Given the description of an element on the screen output the (x, y) to click on. 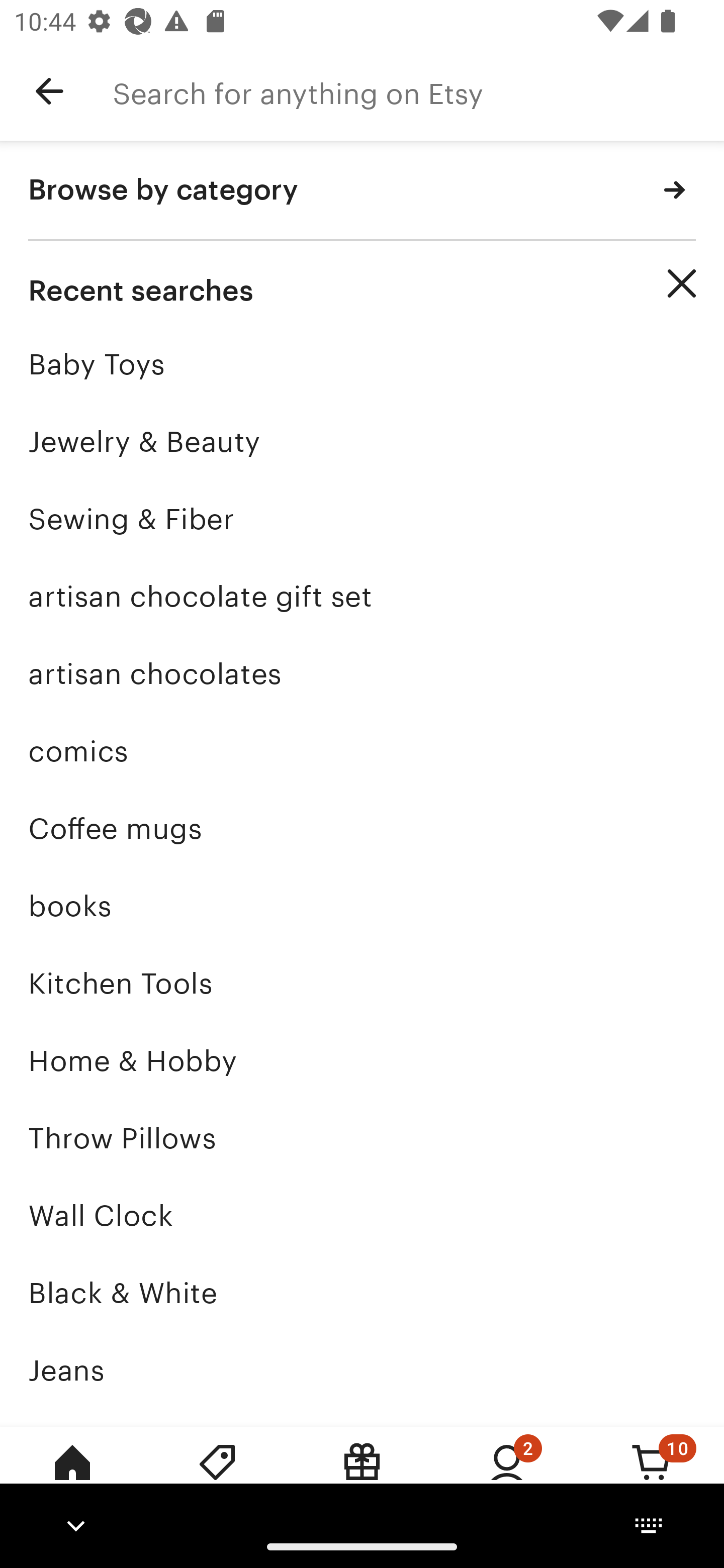
Navigate up (49, 91)
Search for anything on Etsy (418, 91)
Browse by category (362, 191)
Clear (681, 283)
Baby Toys (362, 364)
Jewelry & Beauty (362, 440)
Sewing & Fiber (362, 518)
artisan chocolate gift set (362, 596)
artisan chocolates (362, 673)
comics (362, 750)
Coffee mugs (362, 828)
books (362, 906)
Kitchen Tools (362, 983)
Home & Hobby (362, 1060)
Throw Pillows (362, 1138)
Wall Clock (362, 1215)
Black & White (362, 1292)
Jeans (362, 1370)
Deals (216, 1475)
Gift Mode (361, 1475)
You, 2 new notifications (506, 1475)
Cart, 10 new notifications (651, 1475)
